Given the description of an element on the screen output the (x, y) to click on. 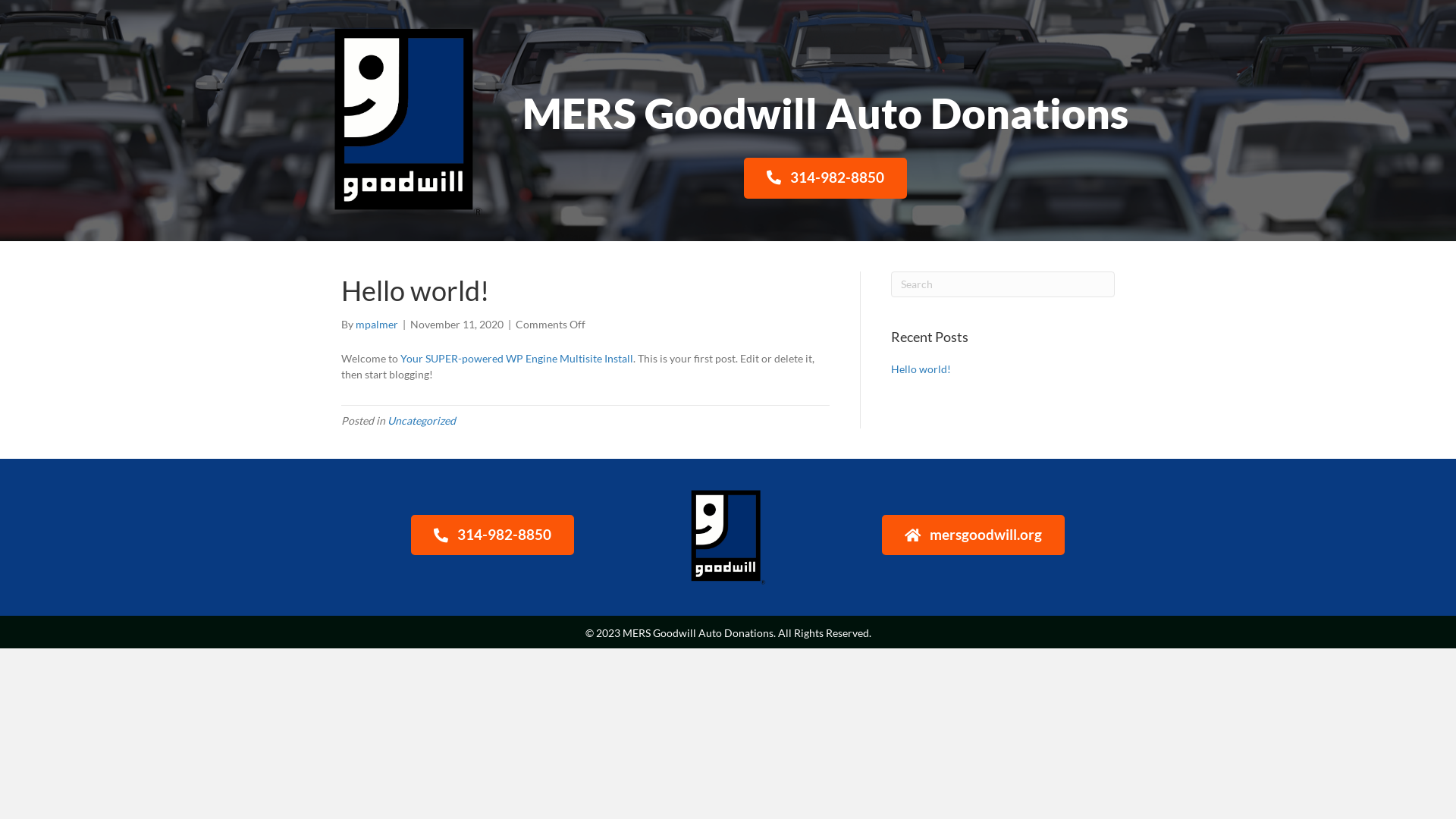
Hello world! Element type: text (920, 368)
Uncategorized Element type: text (421, 420)
Your SUPER-powered WP Engine Multisite Install Element type: text (516, 357)
314-982-8850 Element type: text (824, 178)
GWlogo Element type: hover (407, 122)
mersgoodwill.org Element type: text (972, 534)
mpalmer Element type: text (376, 323)
314-982-8850 Element type: text (492, 534)
Type and press Enter to search. Element type: hover (1002, 284)
GWlogo Element type: hover (727, 536)
MERS Goodwill Auto Donations Element type: text (825, 112)
